Given the description of an element on the screen output the (x, y) to click on. 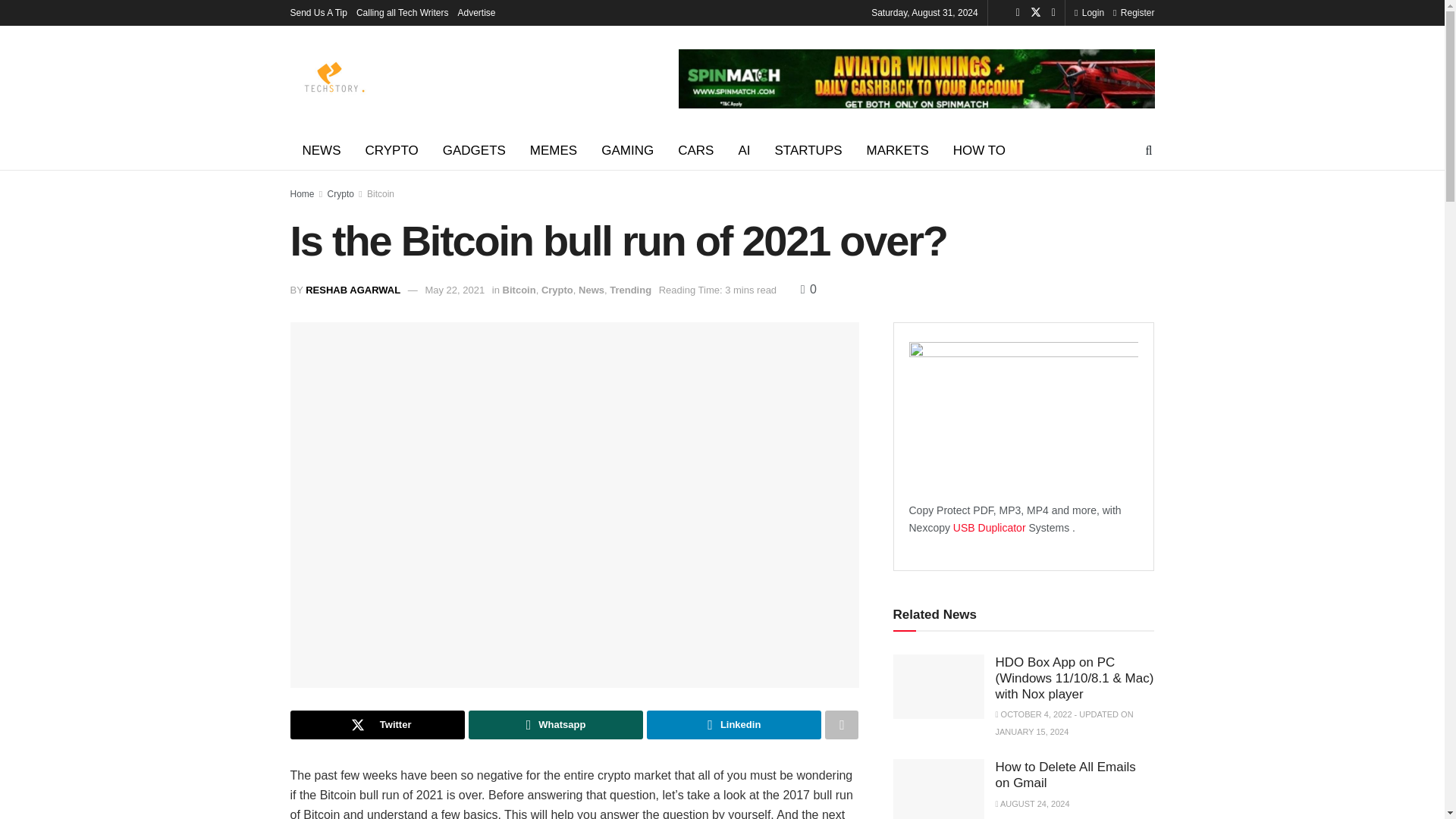
Send Us A Tip (317, 12)
AI (743, 150)
Register (1133, 12)
CARS (695, 150)
GADGETS (474, 150)
STARTUPS (807, 150)
HOW TO (978, 150)
MARKETS (897, 150)
GAMING (627, 150)
MEMES (553, 150)
